Given the description of an element on the screen output the (x, y) to click on. 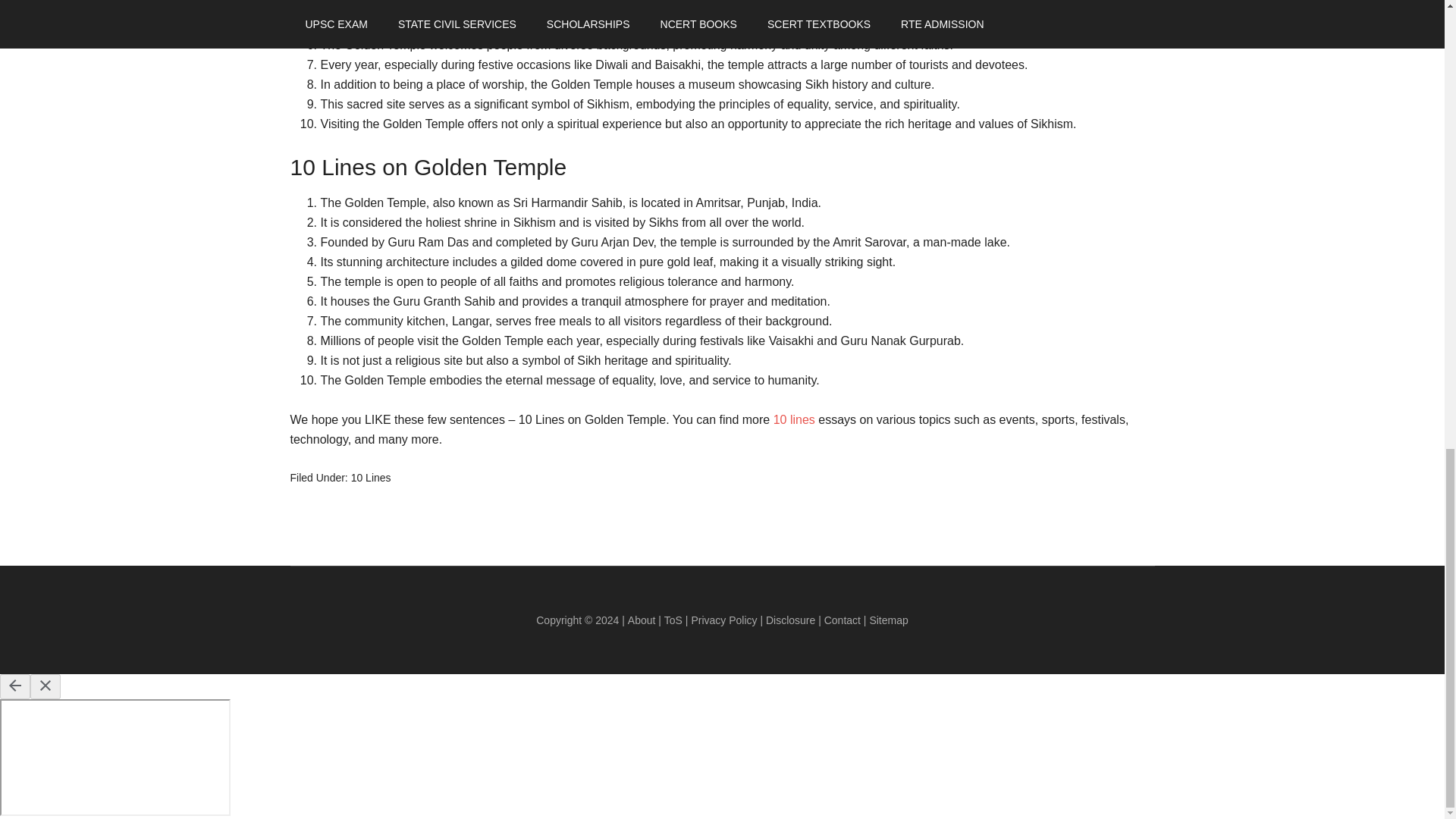
About (641, 620)
ToS (672, 620)
Disclosure (791, 620)
10 Lines (370, 477)
10 lines (794, 419)
Contact (843, 620)
Sitemap (888, 620)
Privacy Policy (723, 620)
